Given the description of an element on the screen output the (x, y) to click on. 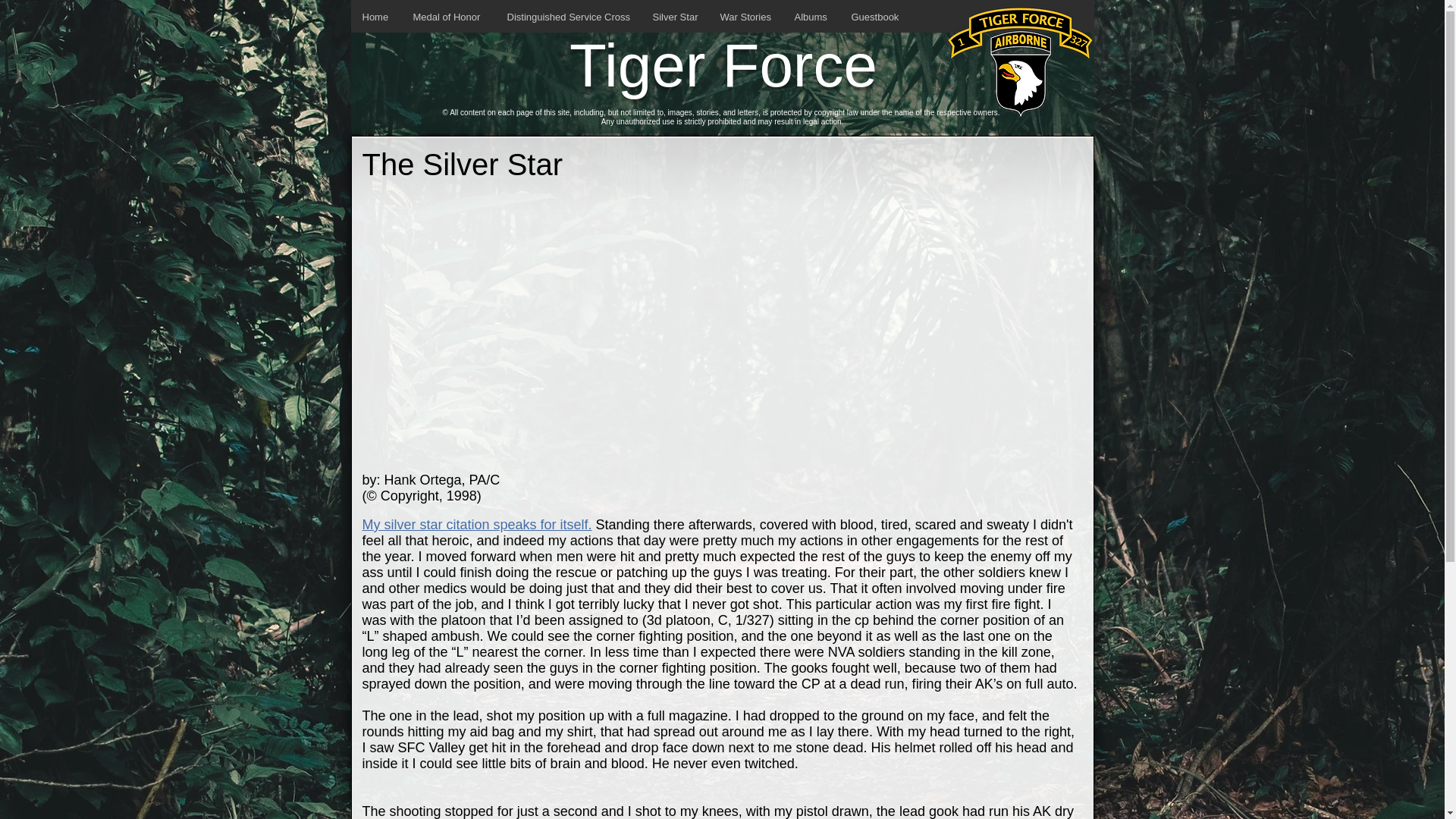
Tiger Force (723, 65)
Medal of Honor (448, 17)
Home (375, 17)
Distinguished Service Cross (569, 17)
Silver Star (675, 17)
